Given the description of an element on the screen output the (x, y) to click on. 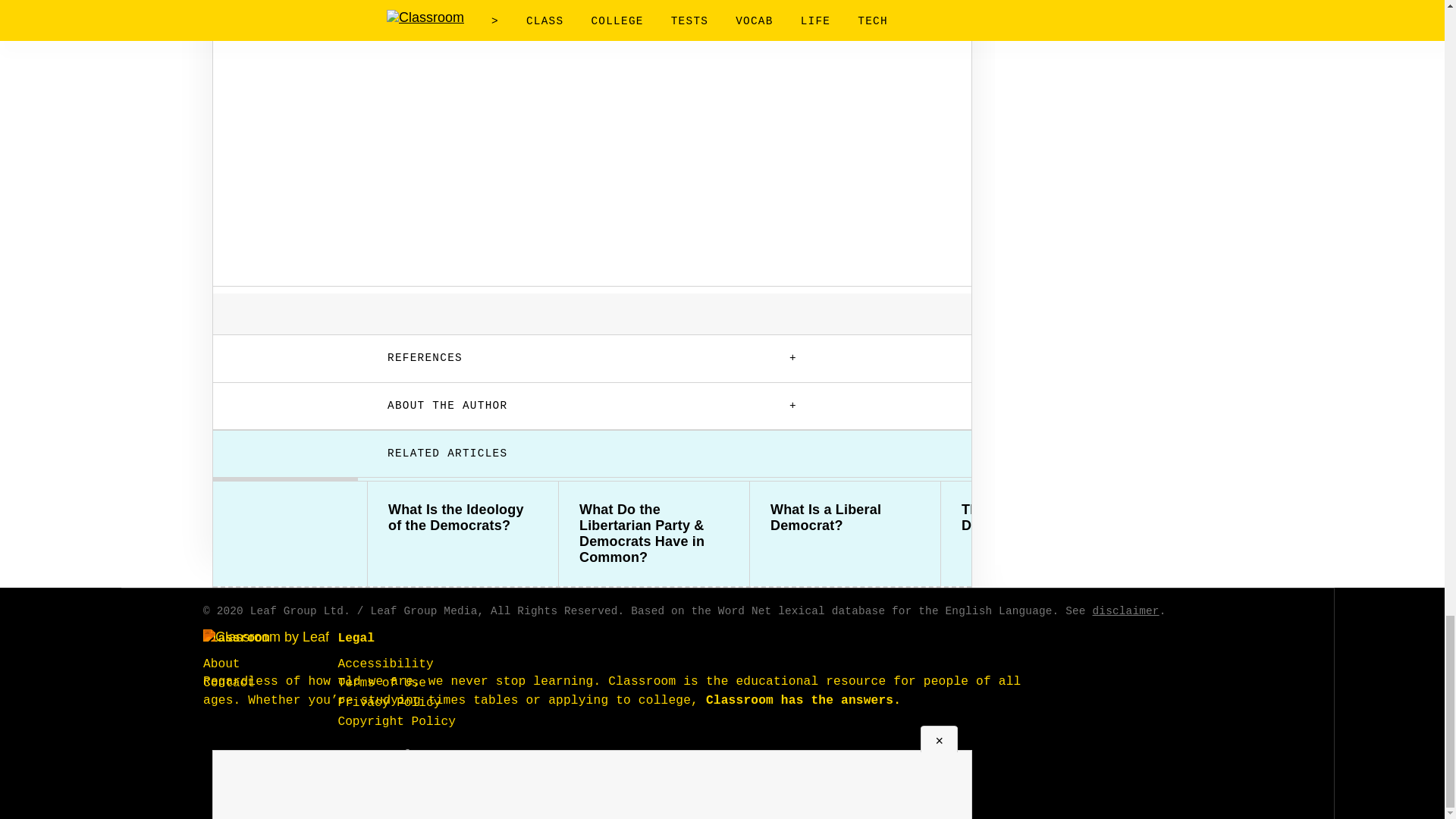
About (221, 663)
What Is a Liberal Democrat? (844, 517)
What Is the Ideology of the Democrats? (462, 517)
What Party Was a Splinter Group of the Republicans? (1227, 525)
Contact (228, 683)
The Lutheran Church During WWII (1035, 517)
